Given the description of an element on the screen output the (x, y) to click on. 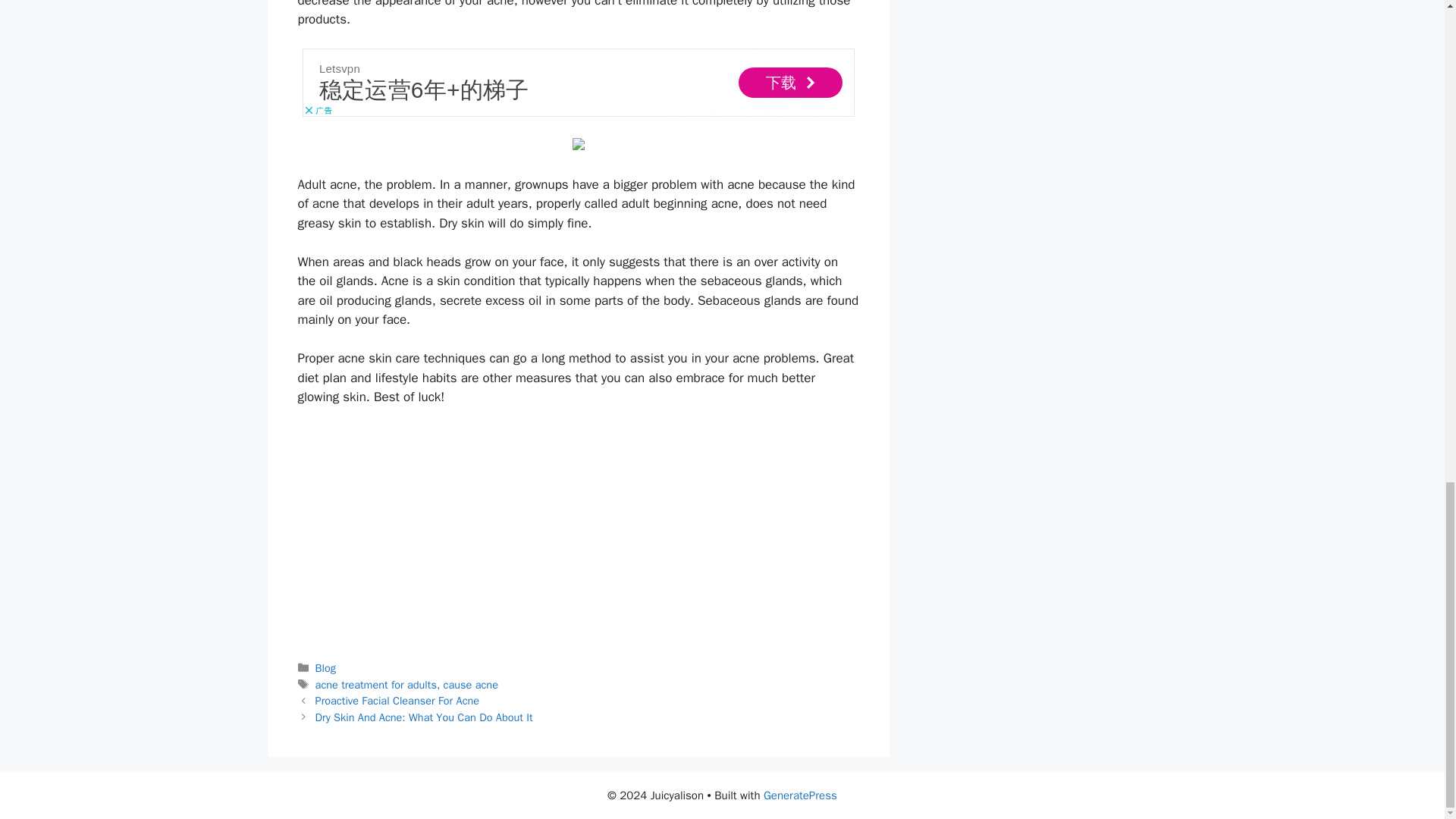
Advertisement (576, 531)
Advertisement (577, 82)
